Given the description of an element on the screen output the (x, y) to click on. 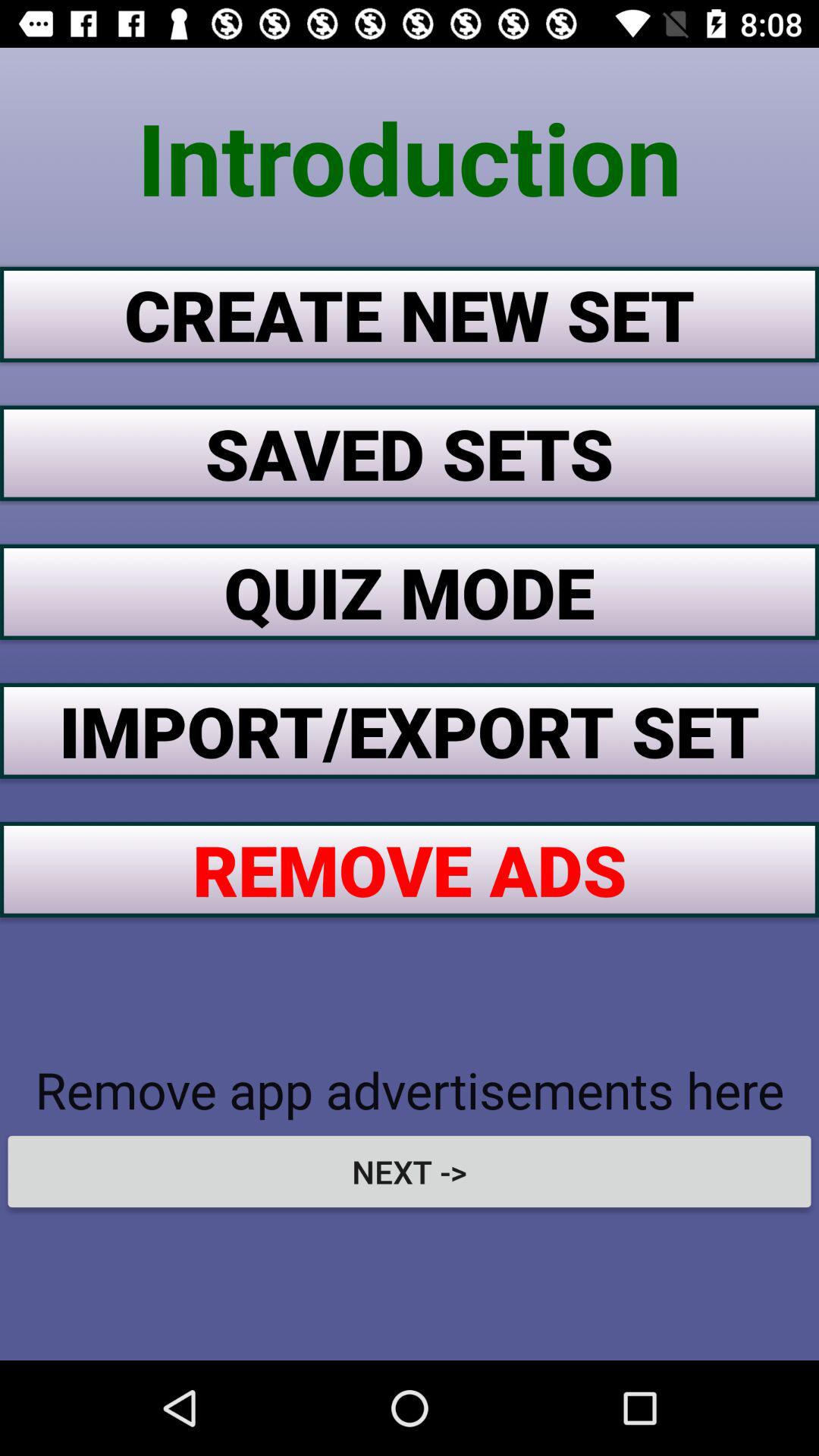
select the button below the saved sets (409, 591)
